Given the description of an element on the screen output the (x, y) to click on. 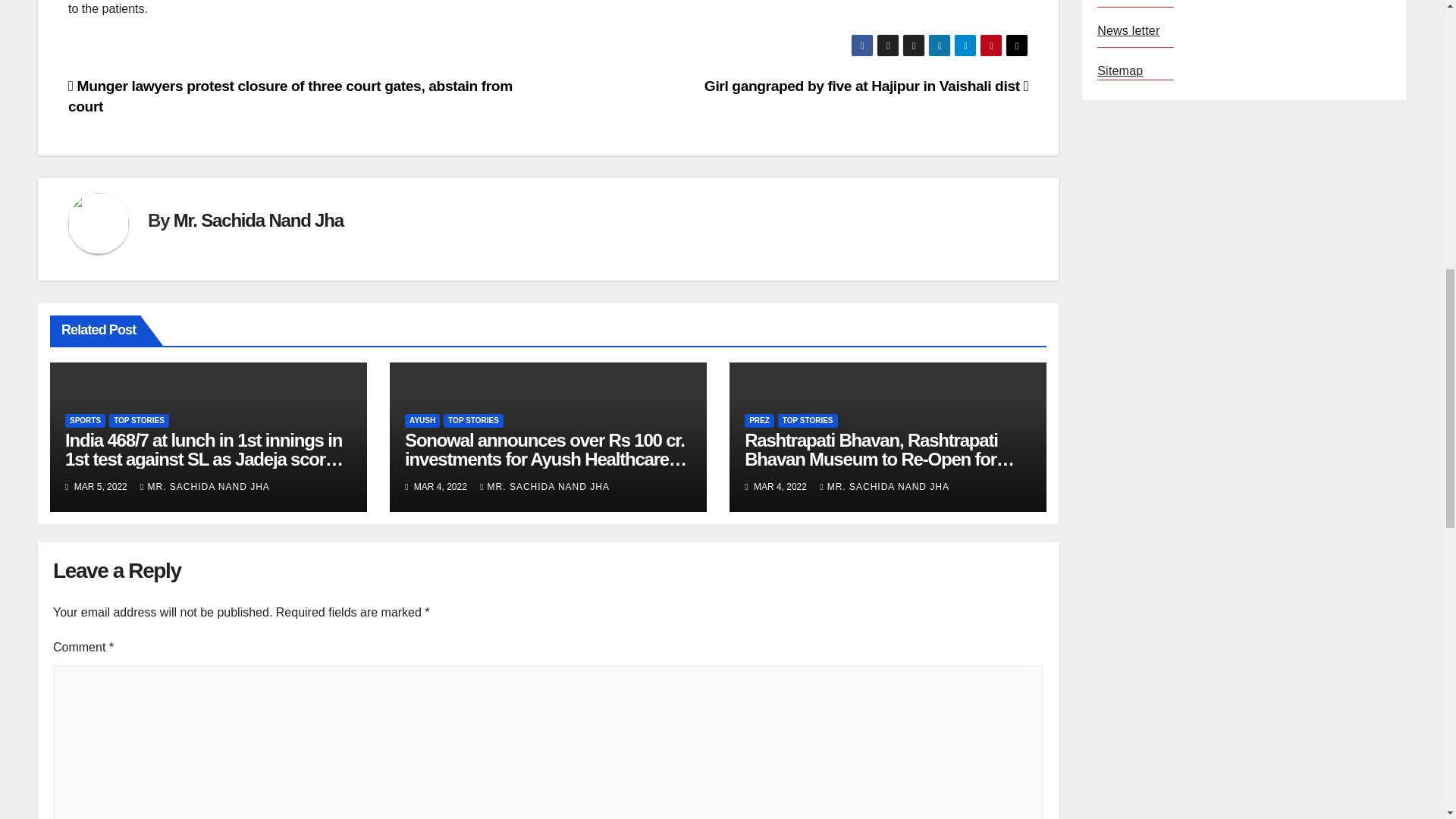
Girl gangraped by five at Hajipur in Vaishali dist (865, 85)
TOP STORIES (138, 420)
SPORTS (84, 420)
Mr. Sachida Nand Jha (258, 219)
